Given the description of an element on the screen output the (x, y) to click on. 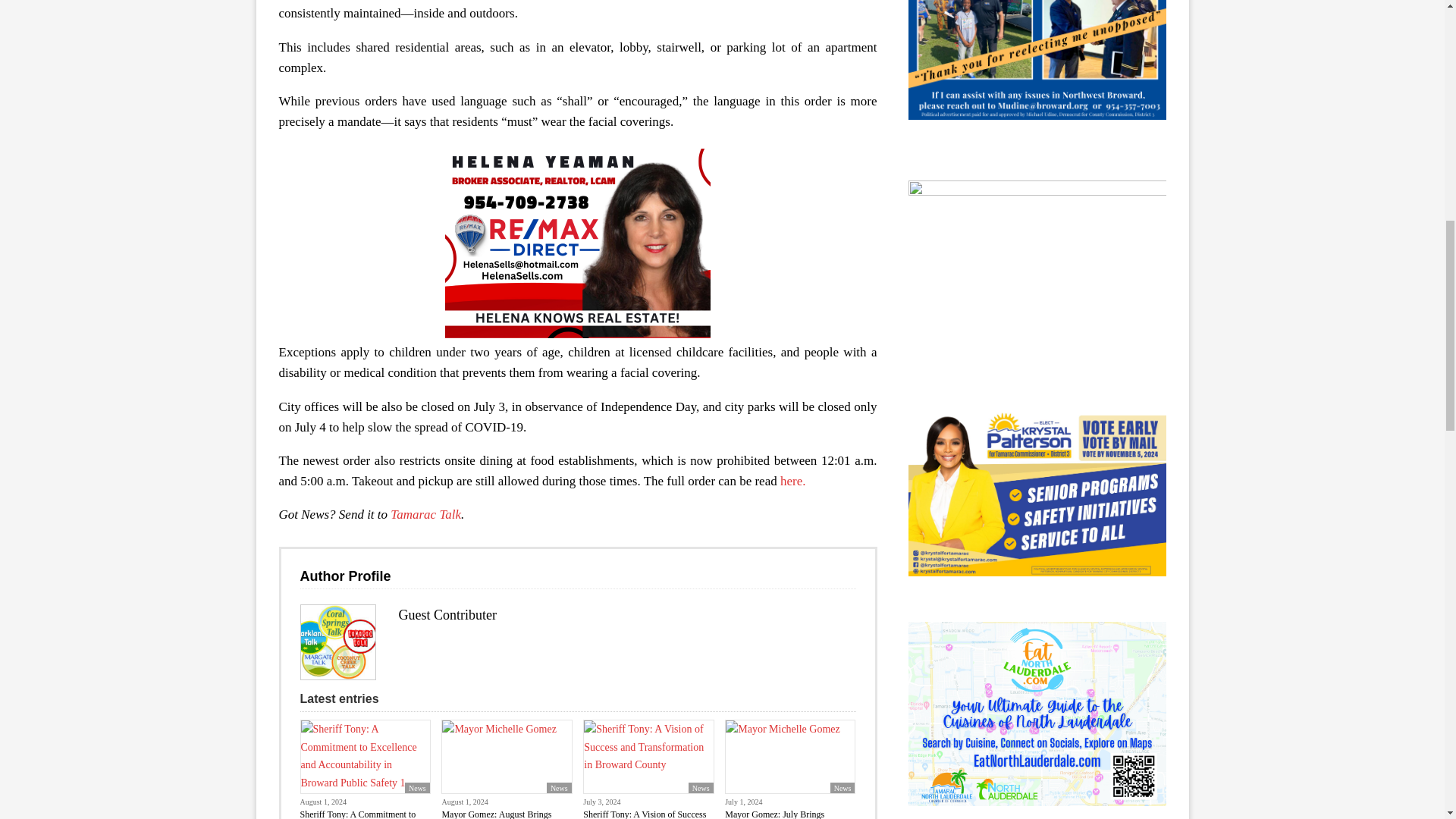
Mayor Gomez: July Brings Exciting Events and Safety Tips 5 (789, 756)
Tamarac Follows Latest County Order Requiring Masks 7 (337, 642)
